Given the description of an element on the screen output the (x, y) to click on. 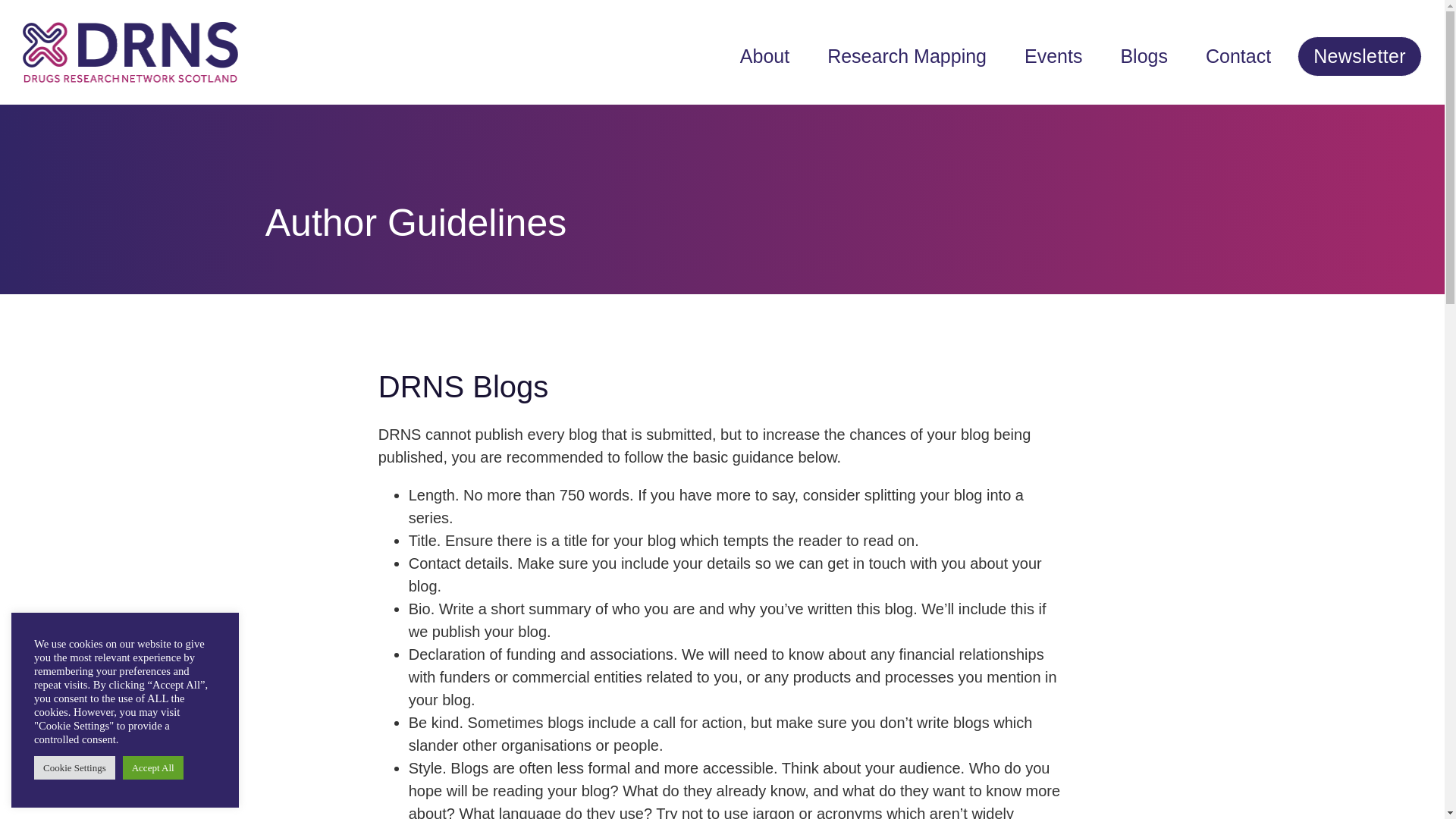
About (772, 55)
Contact (1245, 55)
Research Mapping (914, 55)
Blogs (1150, 55)
Newsletter (1359, 56)
Events (1060, 55)
Accept All (152, 767)
Cookie Settings (74, 767)
